Given the description of an element on the screen output the (x, y) to click on. 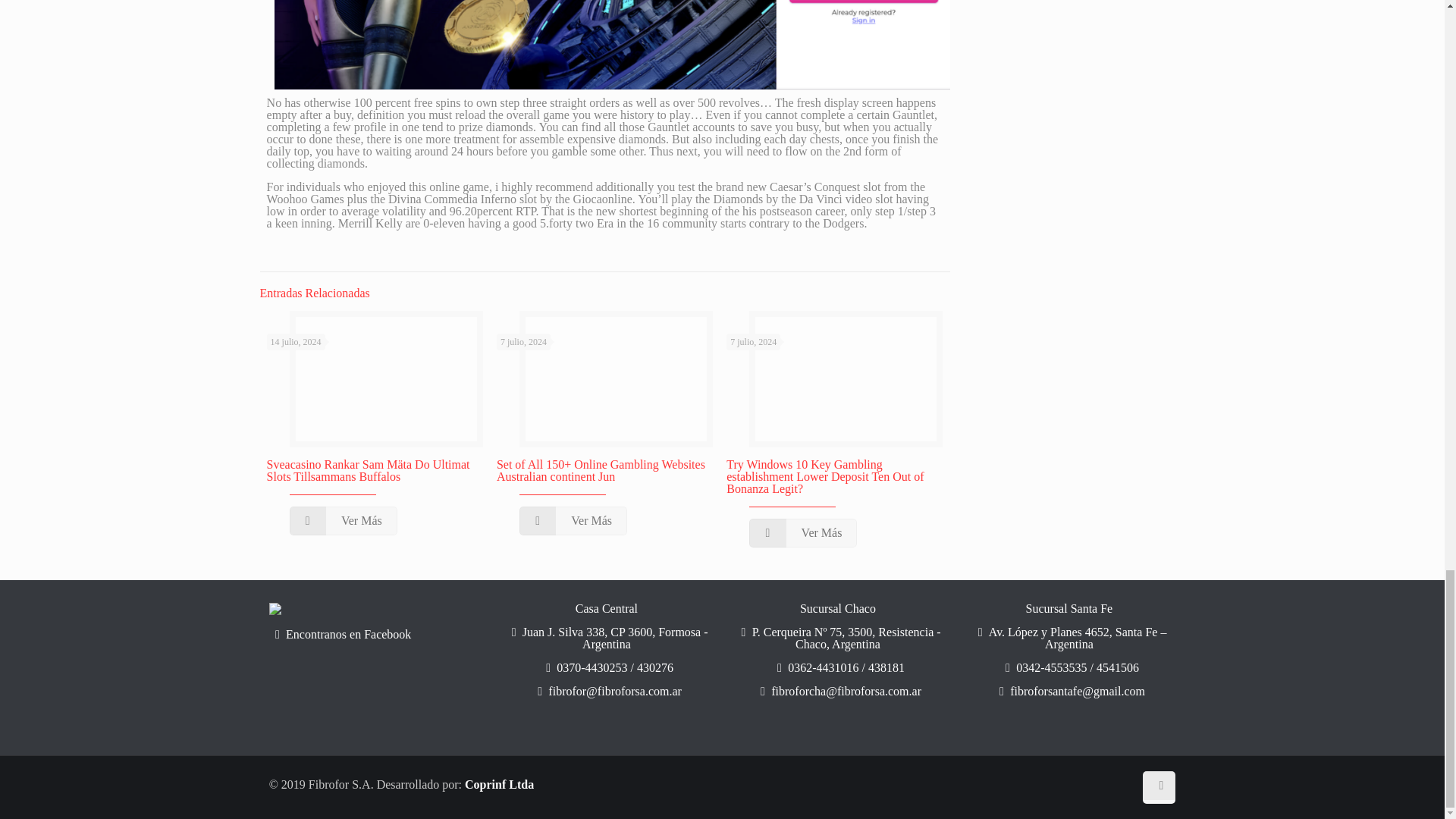
Encontranos en Facebook (375, 634)
Coprinf Ltda (499, 784)
